Given the description of an element on the screen output the (x, y) to click on. 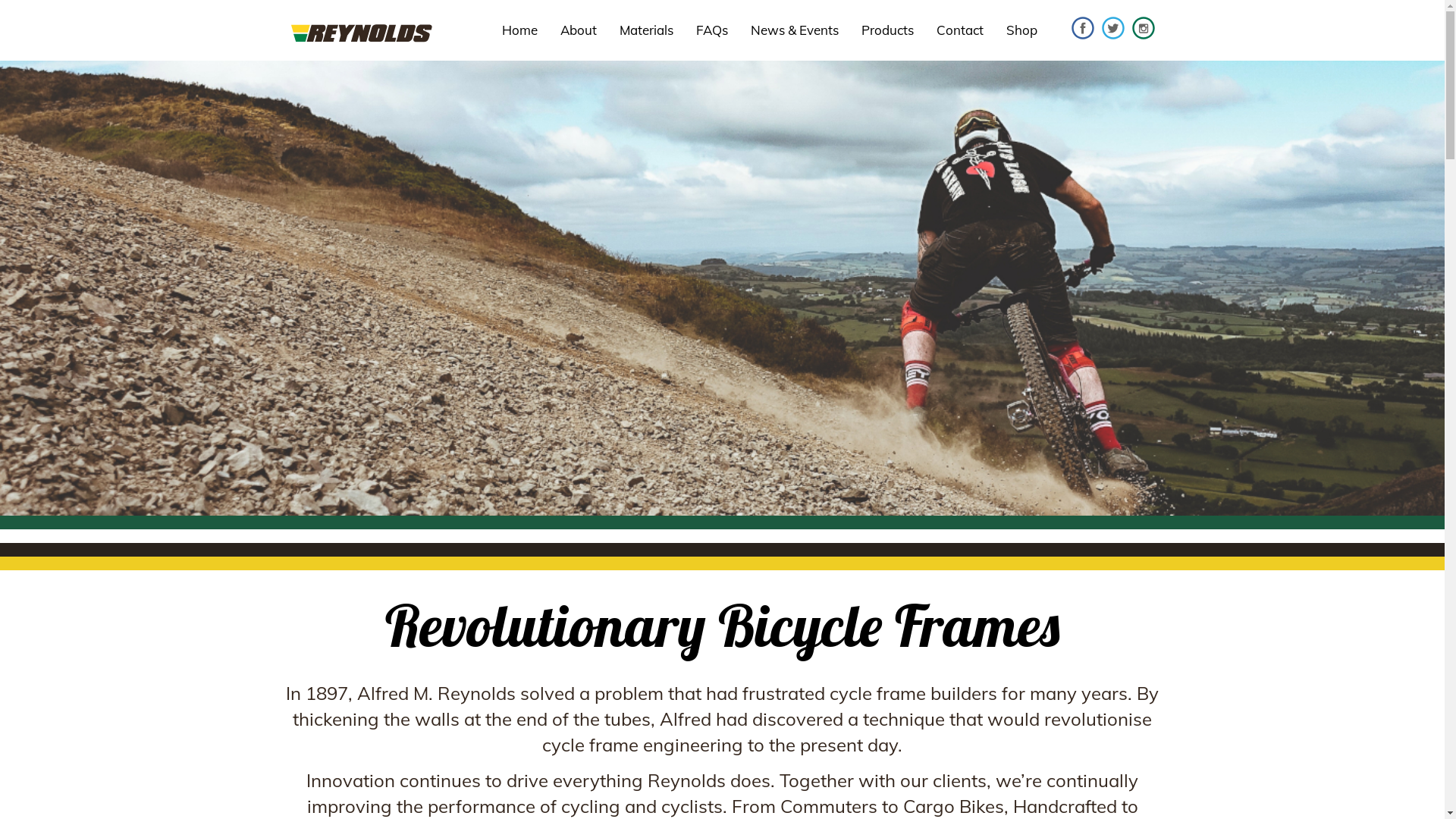
Materials Element type: text (646, 30)
News & Events Element type: text (793, 30)
Contact Element type: text (959, 30)
Home Element type: text (518, 30)
About Element type: text (578, 30)
Shop Element type: text (1021, 30)
FAQs Element type: text (711, 30)
Products Element type: text (886, 30)
